Given the description of an element on the screen output the (x, y) to click on. 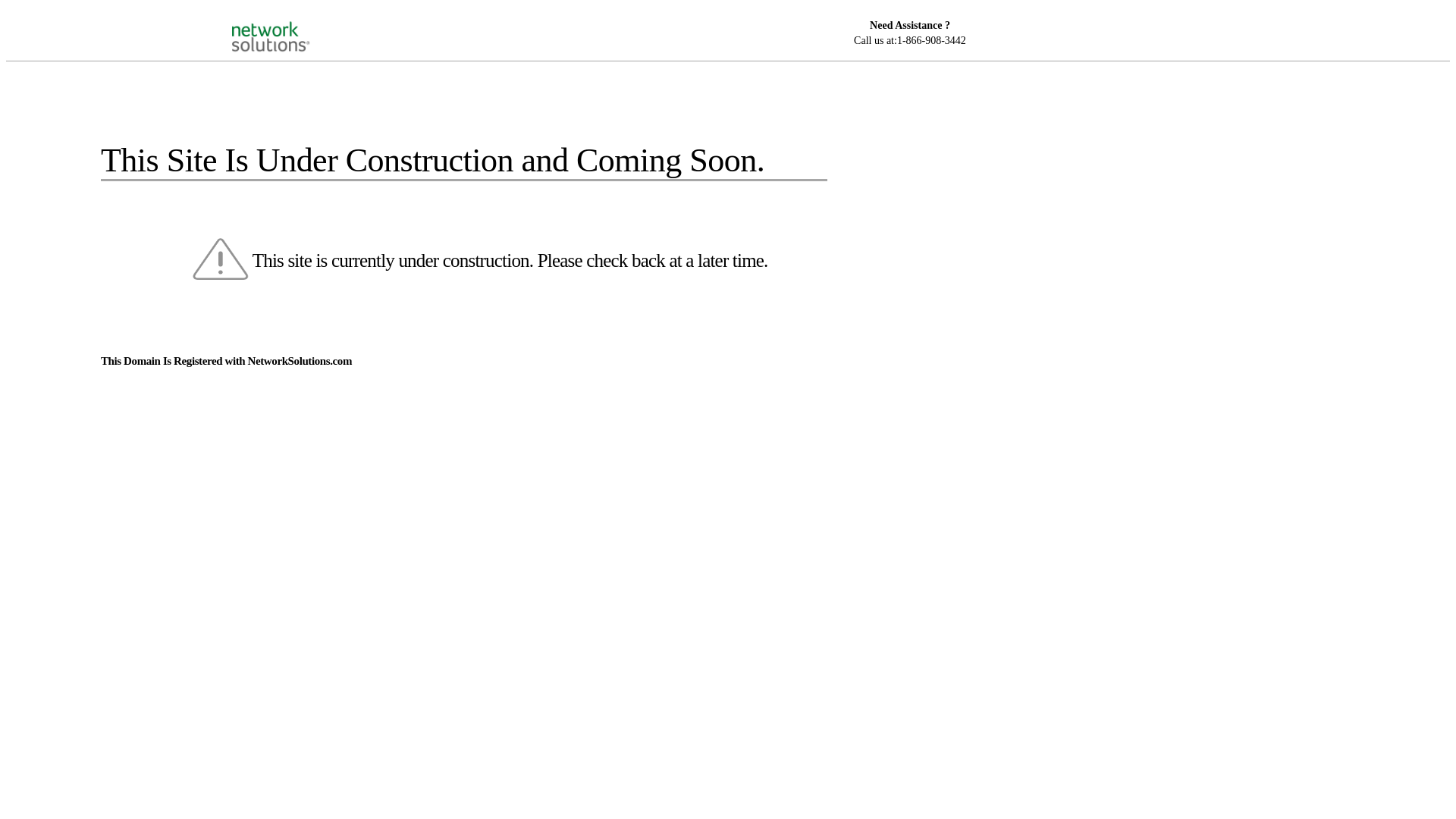
NetworkSolutions.com Home Element type: hover (289, 23)
